Given the description of an element on the screen output the (x, y) to click on. 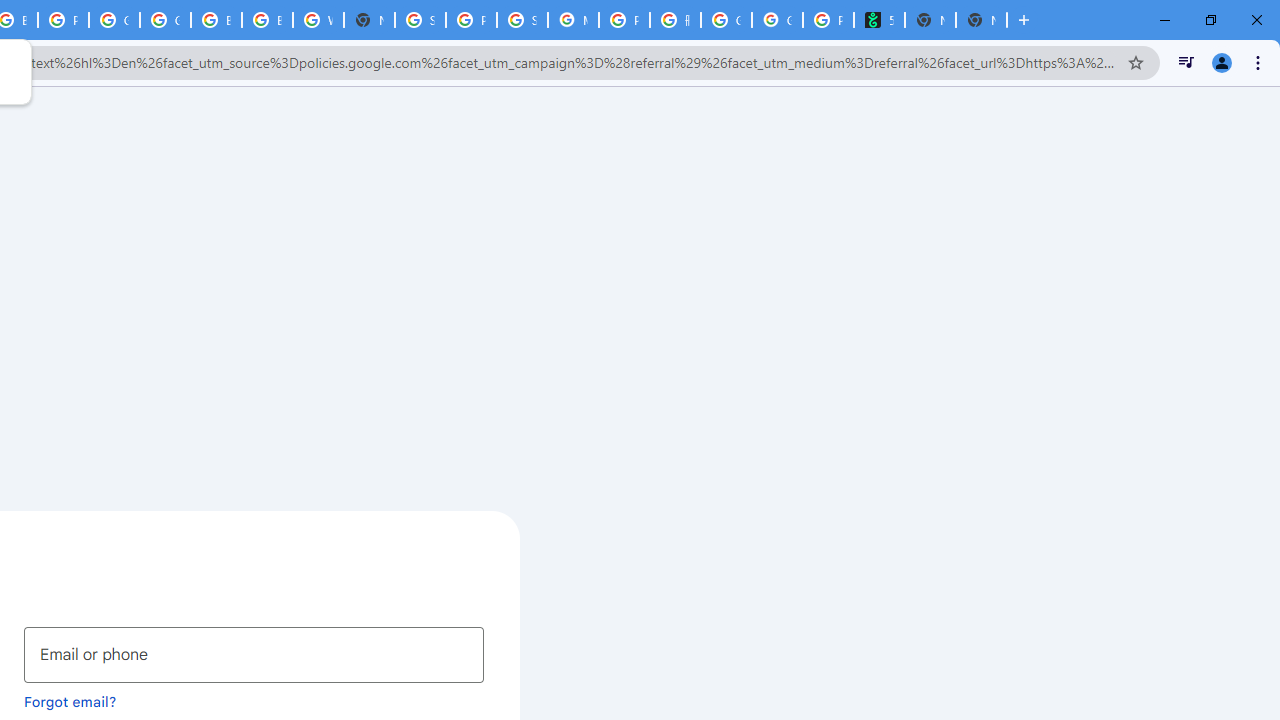
New Tab (981, 20)
Google Cloud Platform (164, 20)
New Tab (369, 20)
